Given the description of an element on the screen output the (x, y) to click on. 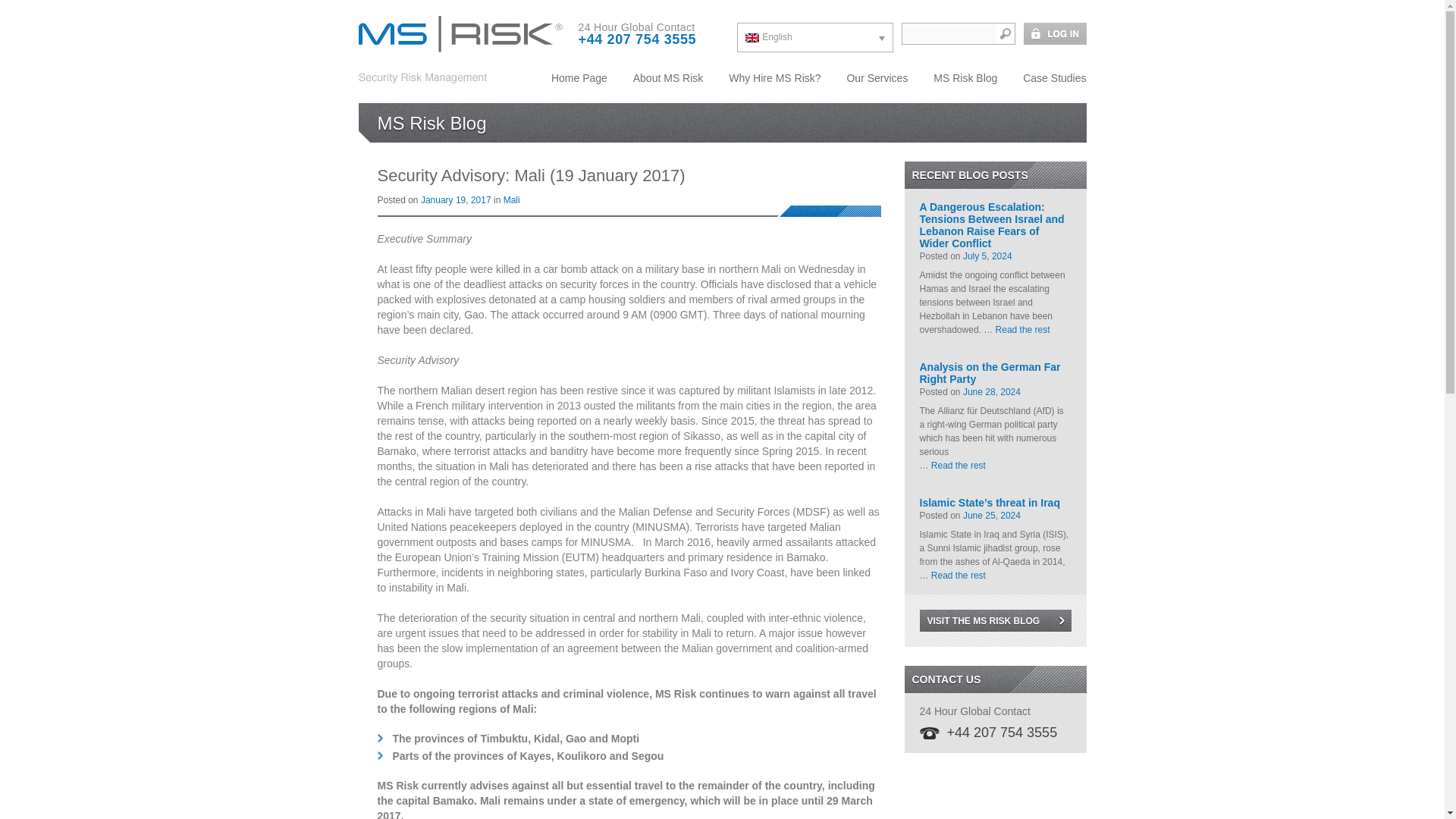
Read the rest (958, 465)
8:41 am (456, 199)
Read the rest (1022, 329)
9:05 pm (991, 391)
9:13 pm (986, 255)
Why Hire MS Risk? (774, 77)
Case Studies (1048, 77)
Home Page (579, 77)
MS Risk Blog (965, 77)
Analysis on the German Far Right Party (994, 366)
About MS Risk (667, 77)
Mali (511, 199)
Search (1003, 33)
English (814, 37)
June 25, 2024 (991, 515)
